Given the description of an element on the screen output the (x, y) to click on. 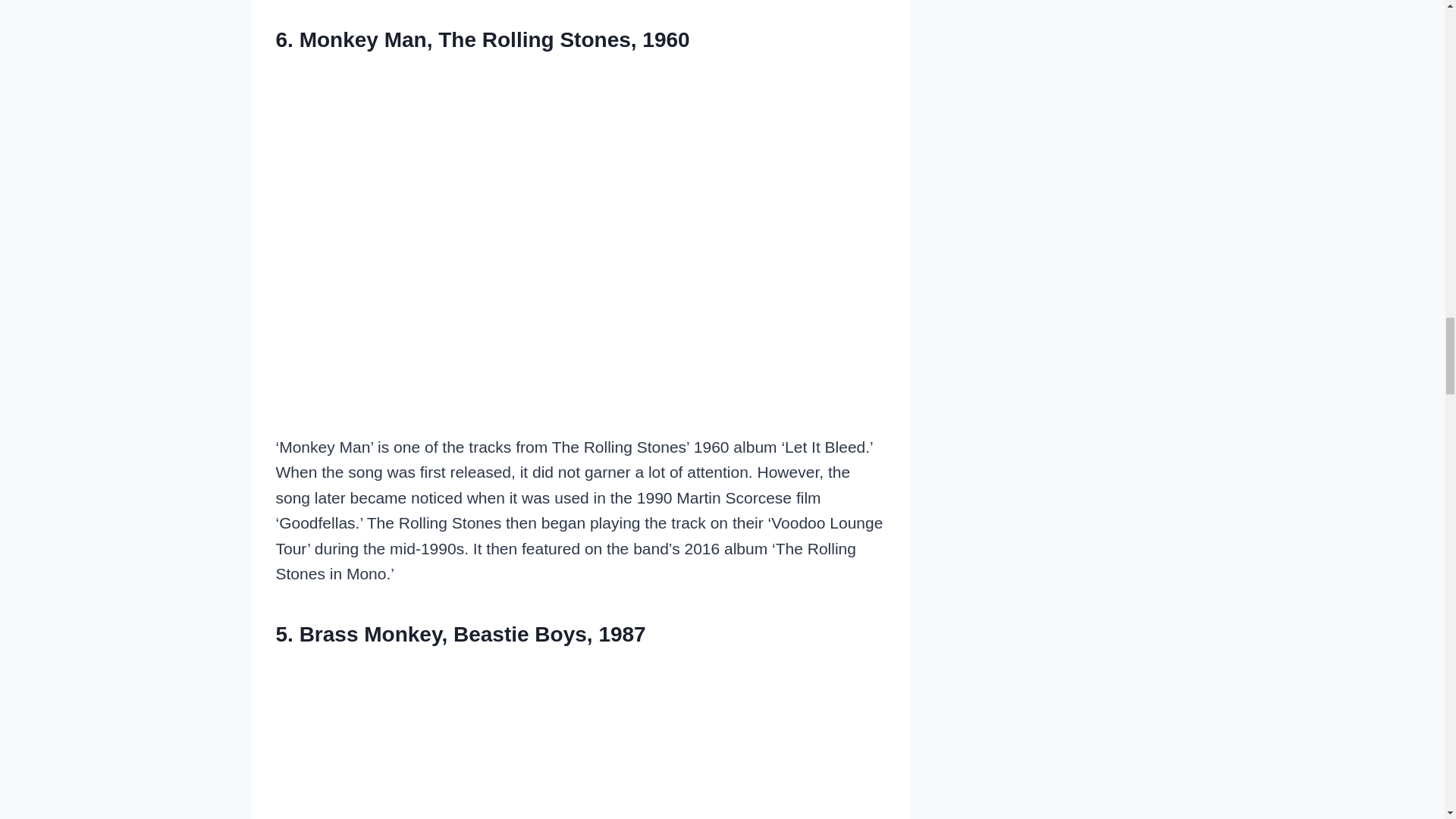
Beastie Boys Brass Monkey Music Video (581, 739)
